Given the description of an element on the screen output the (x, y) to click on. 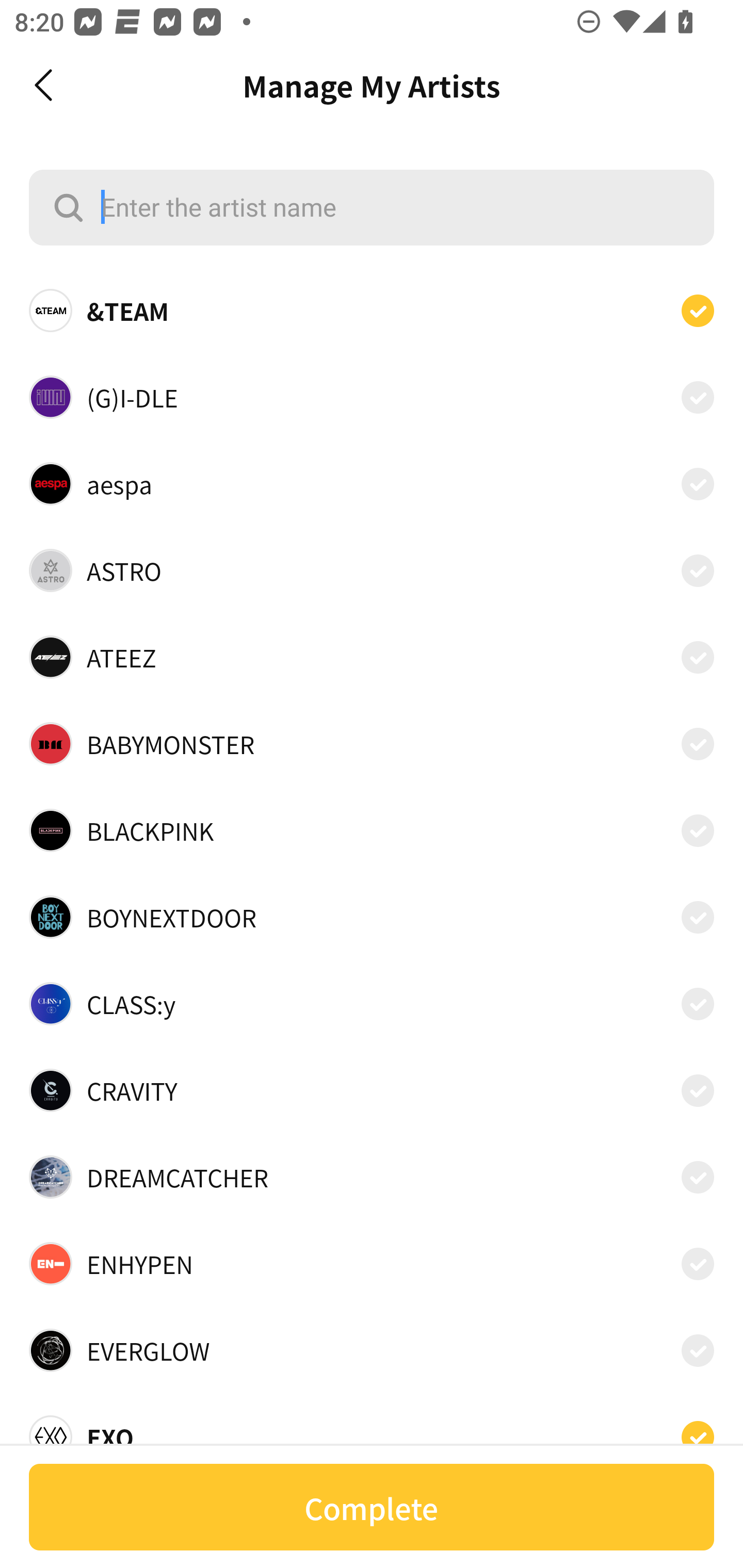
Enter the artist name (371, 207)
&TEAM (371, 310)
(G)I-DLE (371, 396)
aespa (371, 483)
ASTRO (371, 570)
ATEEZ (371, 656)
BABYMONSTER (371, 743)
BLACKPINK (371, 830)
BOYNEXTDOOR (371, 917)
CLASS:y (371, 1003)
CRAVITY (371, 1090)
DREAMCATCHER (371, 1176)
ENHYPEN (371, 1263)
EVERGLOW (371, 1350)
EXO (371, 1430)
Complete (371, 1507)
